Given the description of an element on the screen output the (x, y) to click on. 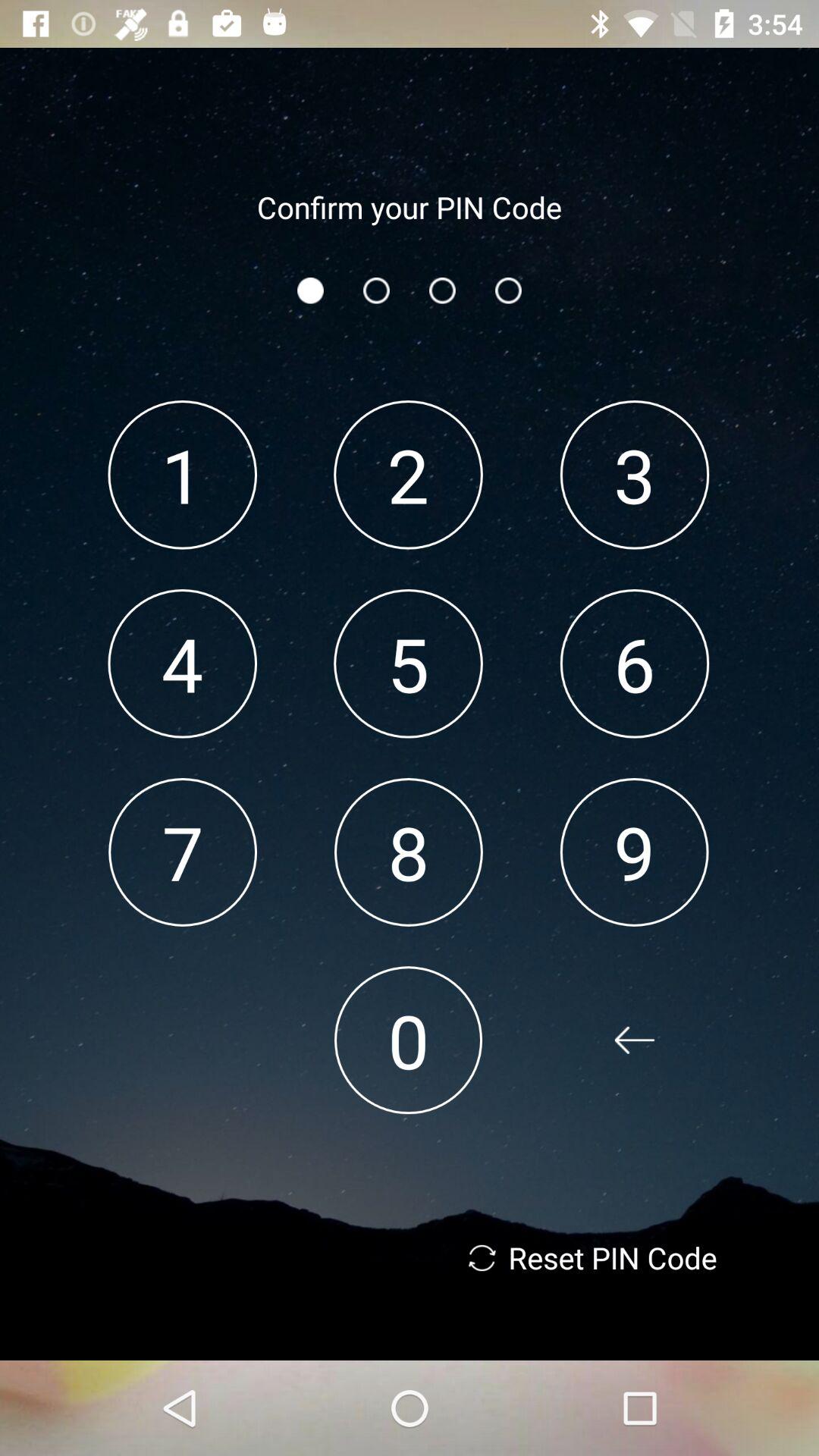
select item below 8 app (408, 1040)
